Given the description of an element on the screen output the (x, y) to click on. 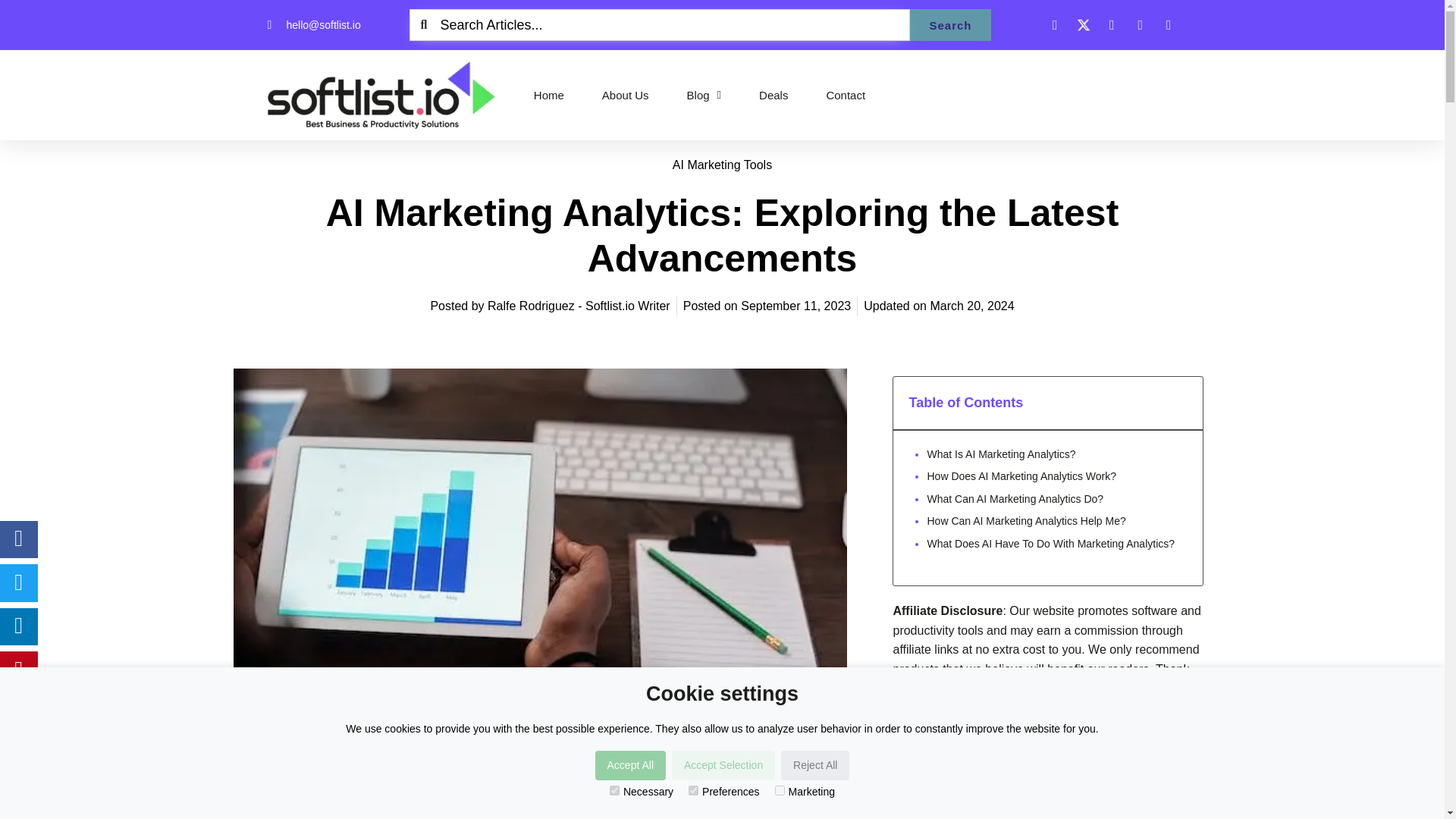
Blog (704, 94)
Necessary (615, 790)
Search (950, 24)
About Us (625, 94)
Preferences (693, 790)
Contact (844, 94)
Marketing (779, 790)
